Given the description of an element on the screen output the (x, y) to click on. 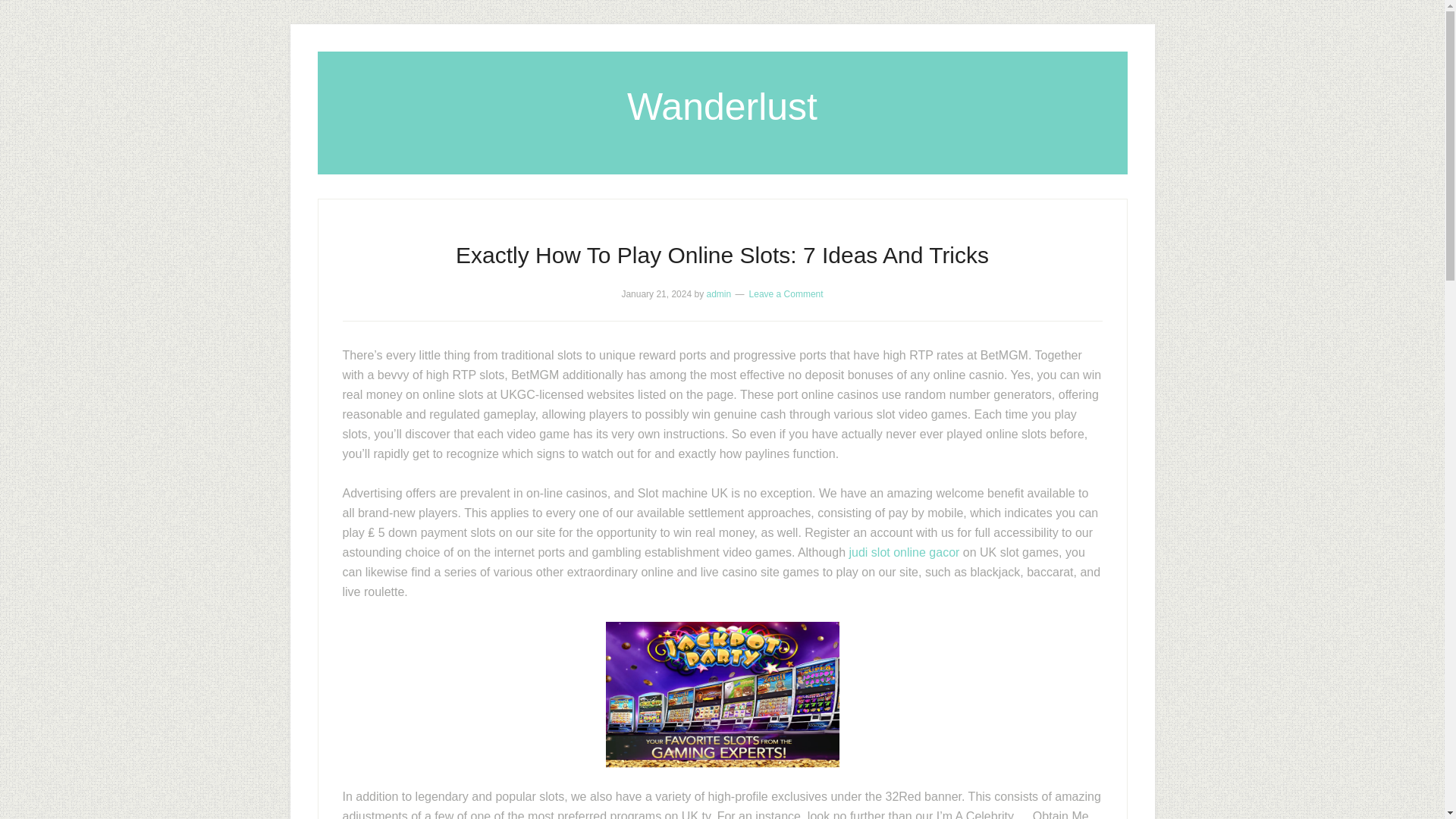
Leave a Comment (786, 294)
judi slot online gacor (903, 552)
Wanderlust (721, 106)
admin (719, 294)
